Given the description of an element on the screen output the (x, y) to click on. 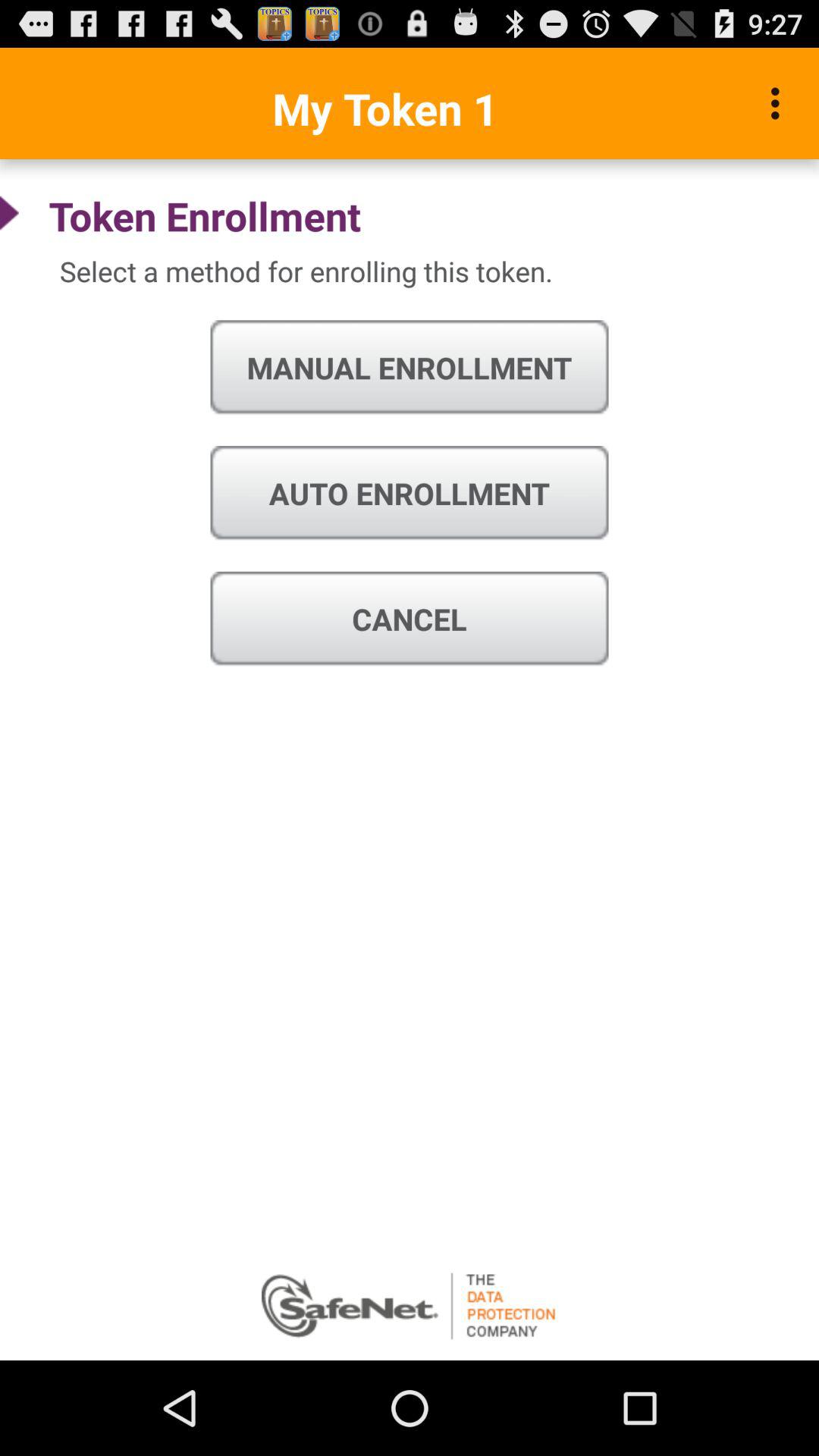
launch the cancel icon (409, 619)
